Given the description of an element on the screen output the (x, y) to click on. 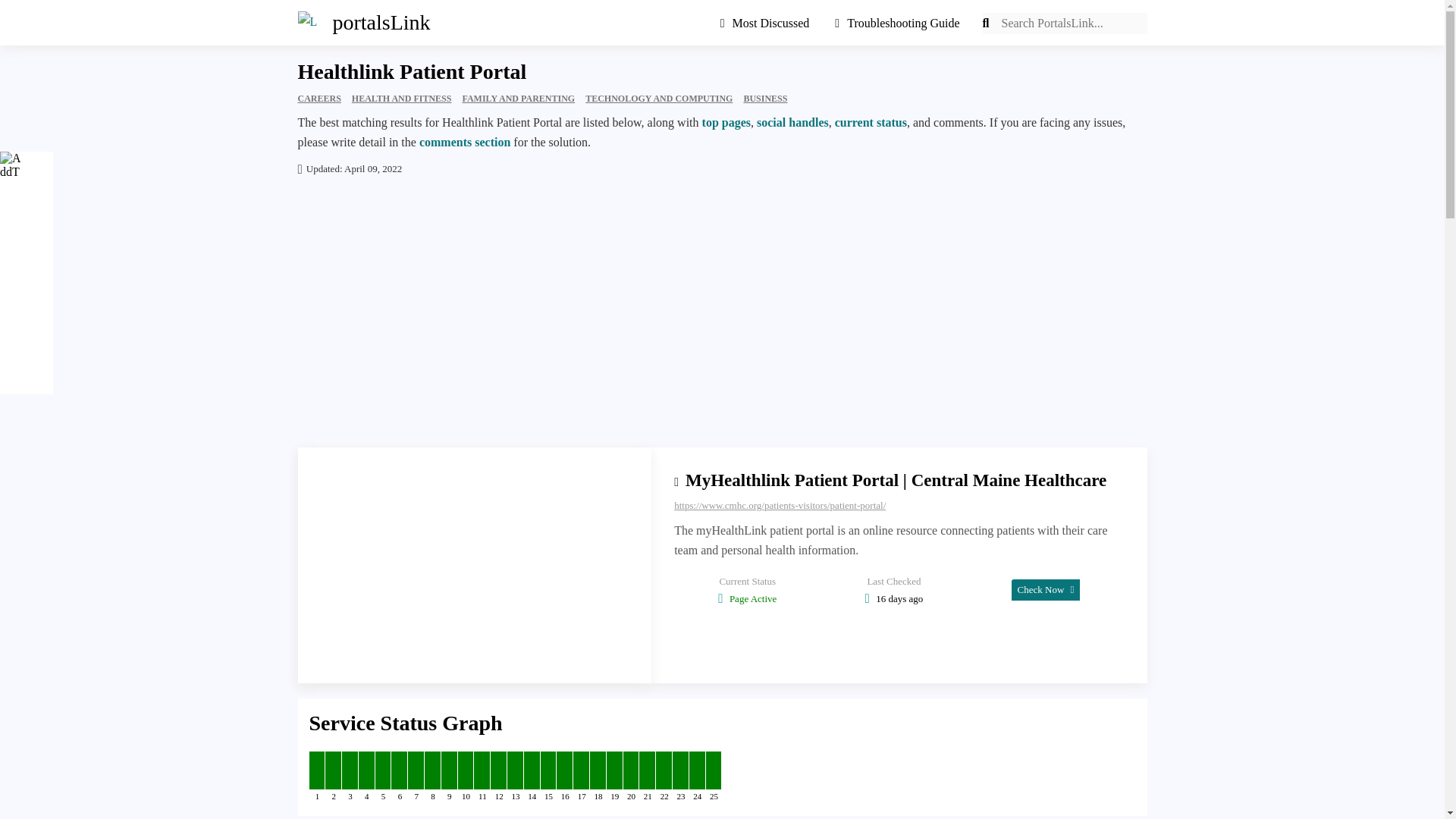
Troubleshooting Guide (897, 22)
Recently Updated (770, 22)
Most Discussed (770, 22)
current status (870, 122)
social handles (792, 122)
portalsLink (355, 22)
Login Troubleshooting Guide (897, 22)
Check Now (1045, 589)
top pages (726, 122)
comments section (465, 141)
